Given the description of an element on the screen output the (x, y) to click on. 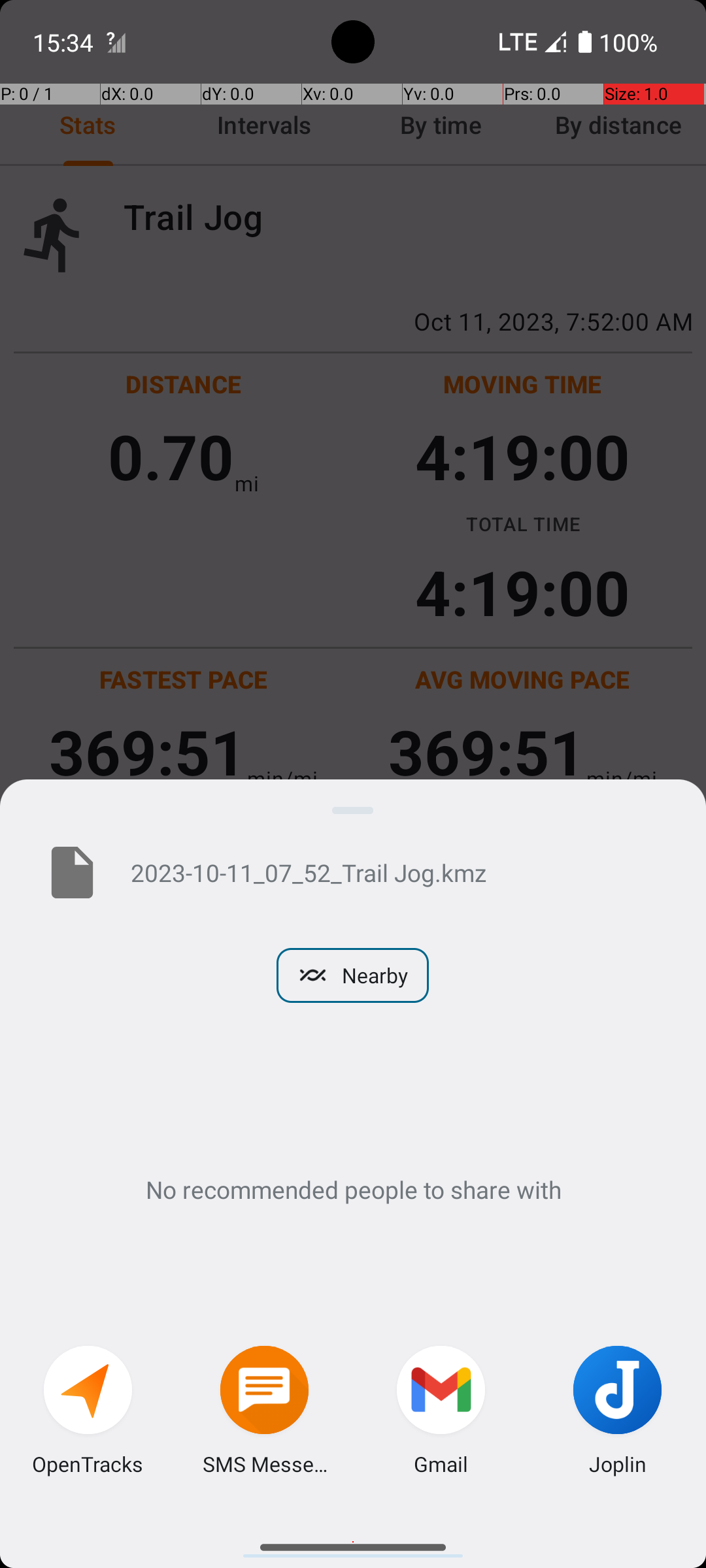
2023-10-11_07_52_Trail Jog.kmz Element type: android.widget.TextView (397, 872)
